Given the description of an element on the screen output the (x, y) to click on. 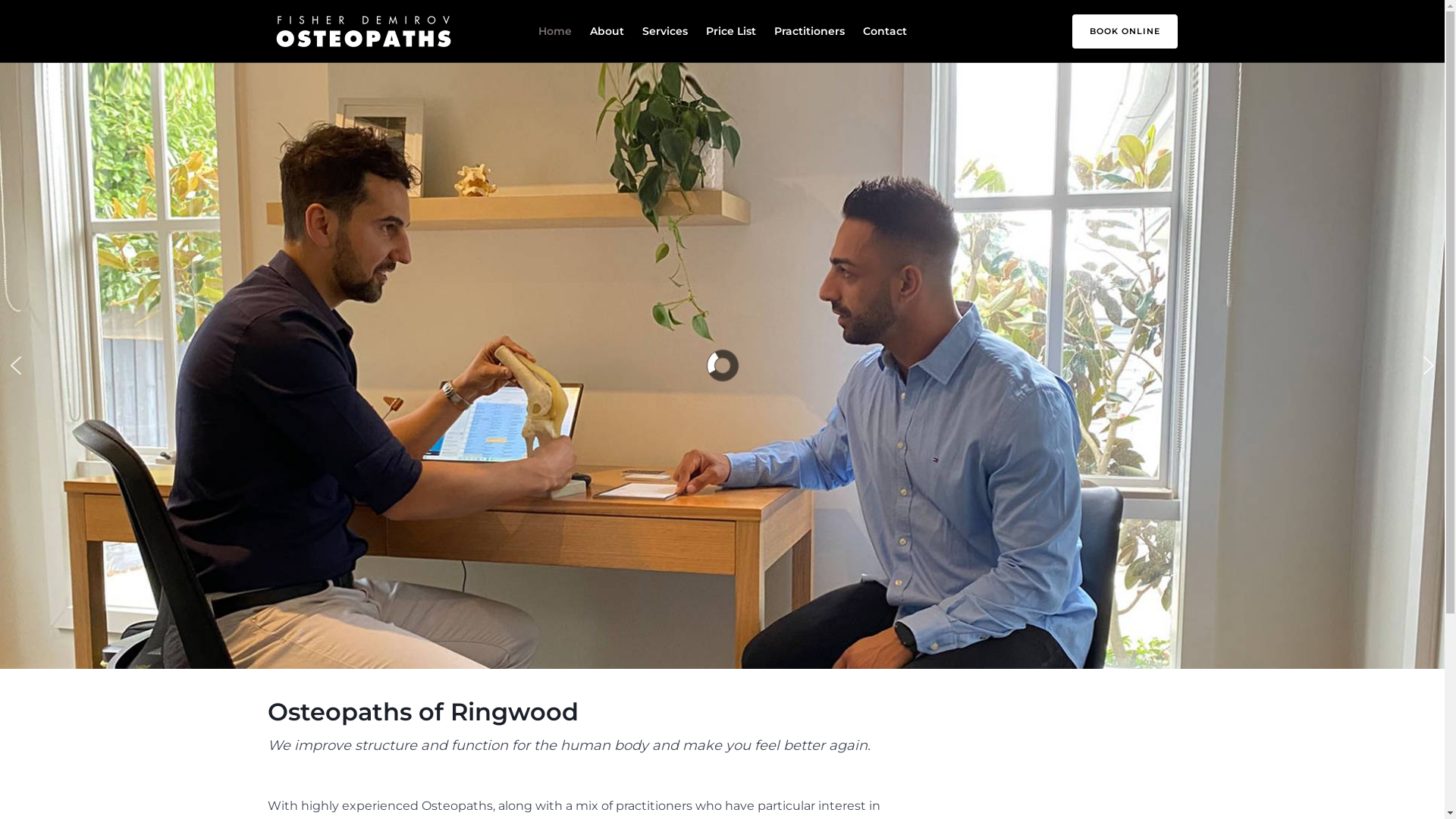
Price List Element type: text (730, 31)
Practitioners Element type: text (808, 31)
Contact Element type: text (884, 31)
Home Element type: text (554, 31)
BOOK ONLINE Element type: text (1115, 30)
Services Element type: text (664, 31)
About Element type: text (606, 31)
